Given the description of an element on the screen output the (x, y) to click on. 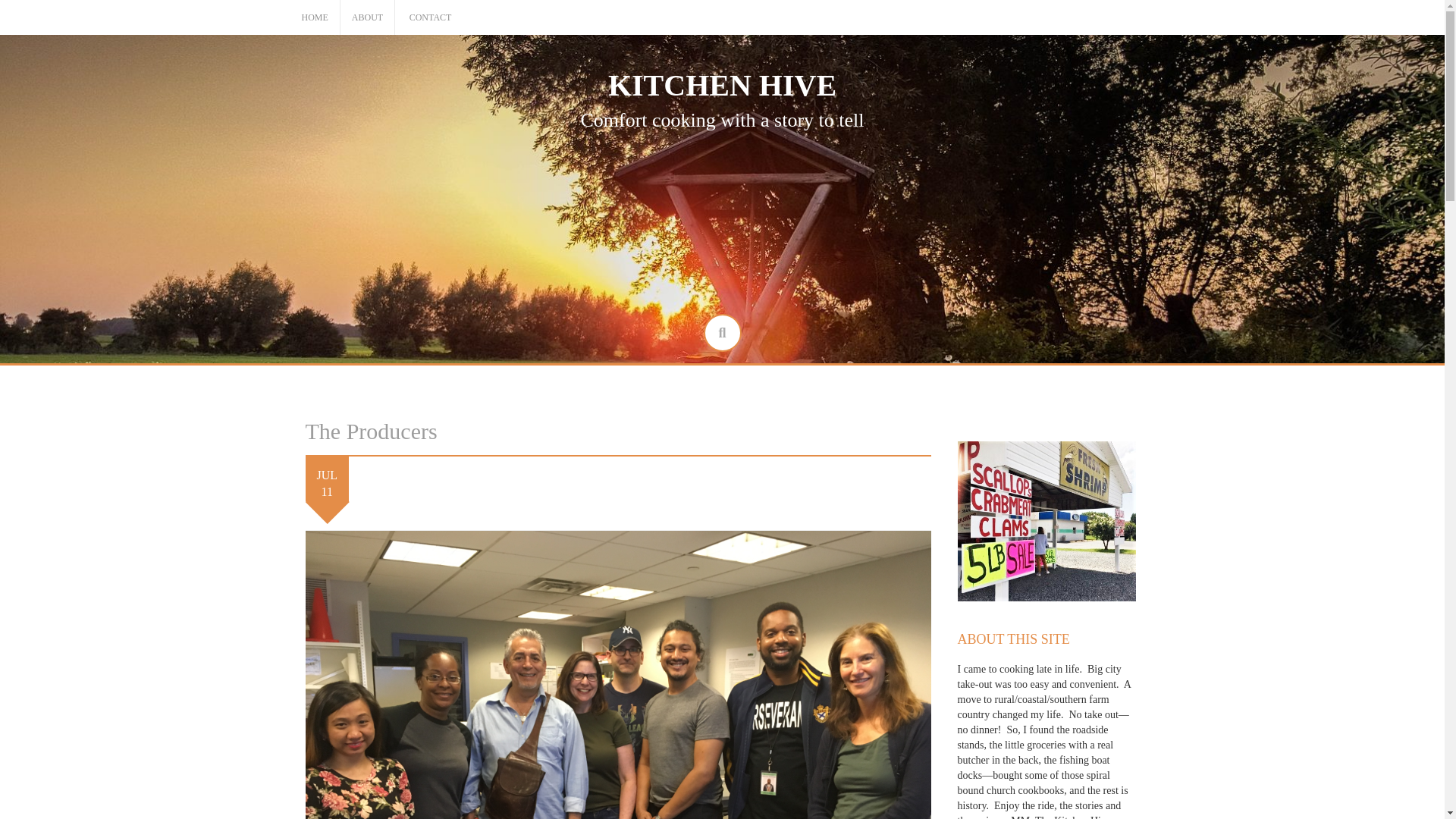
HOME (315, 17)
ABOUT (367, 17)
CONTACT (430, 17)
KITCHEN HIVE (721, 84)
